Given the description of an element on the screen output the (x, y) to click on. 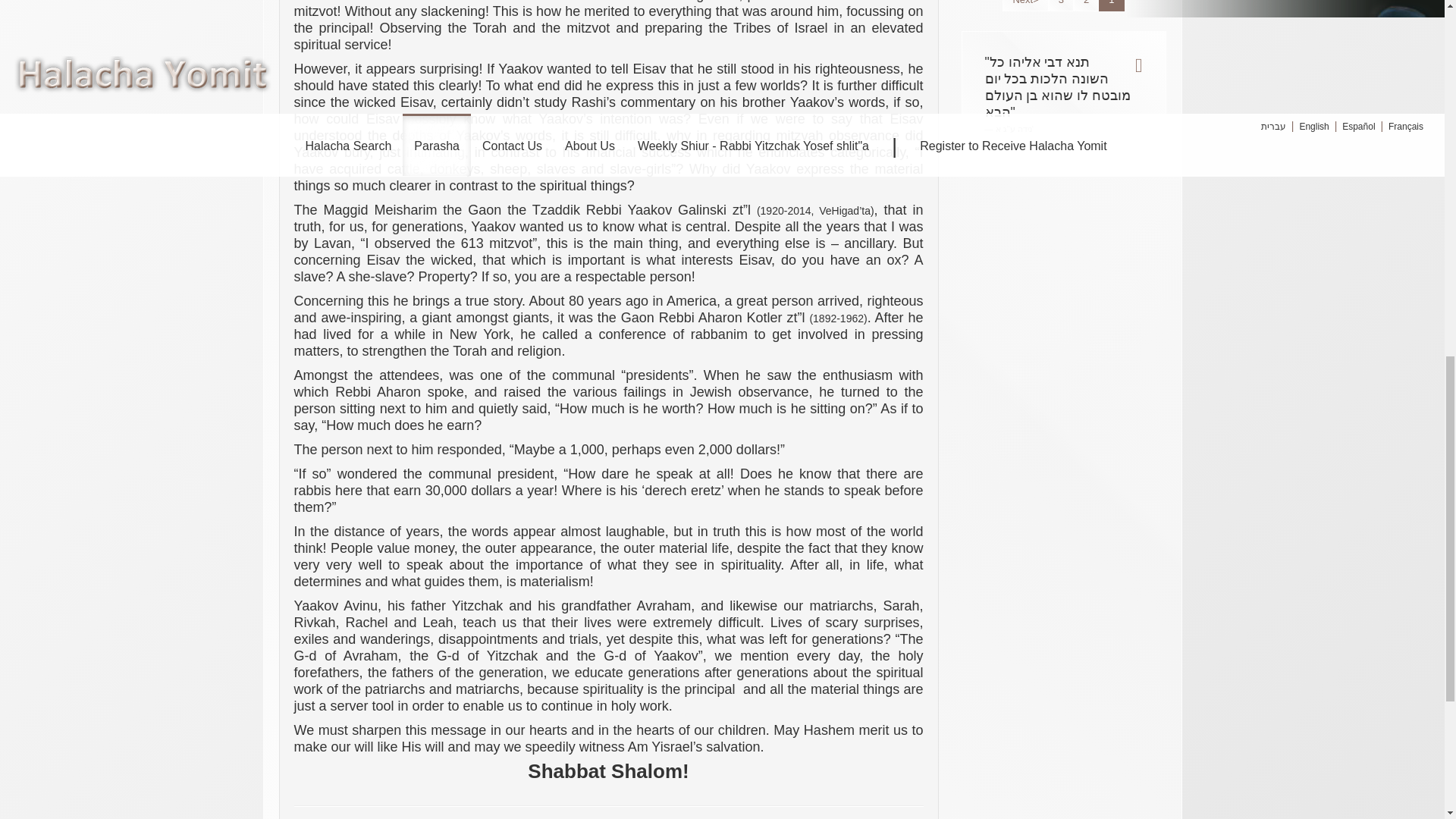
3 (1061, 5)
2 (1086, 5)
1 (1111, 5)
